Given the description of an element on the screen output the (x, y) to click on. 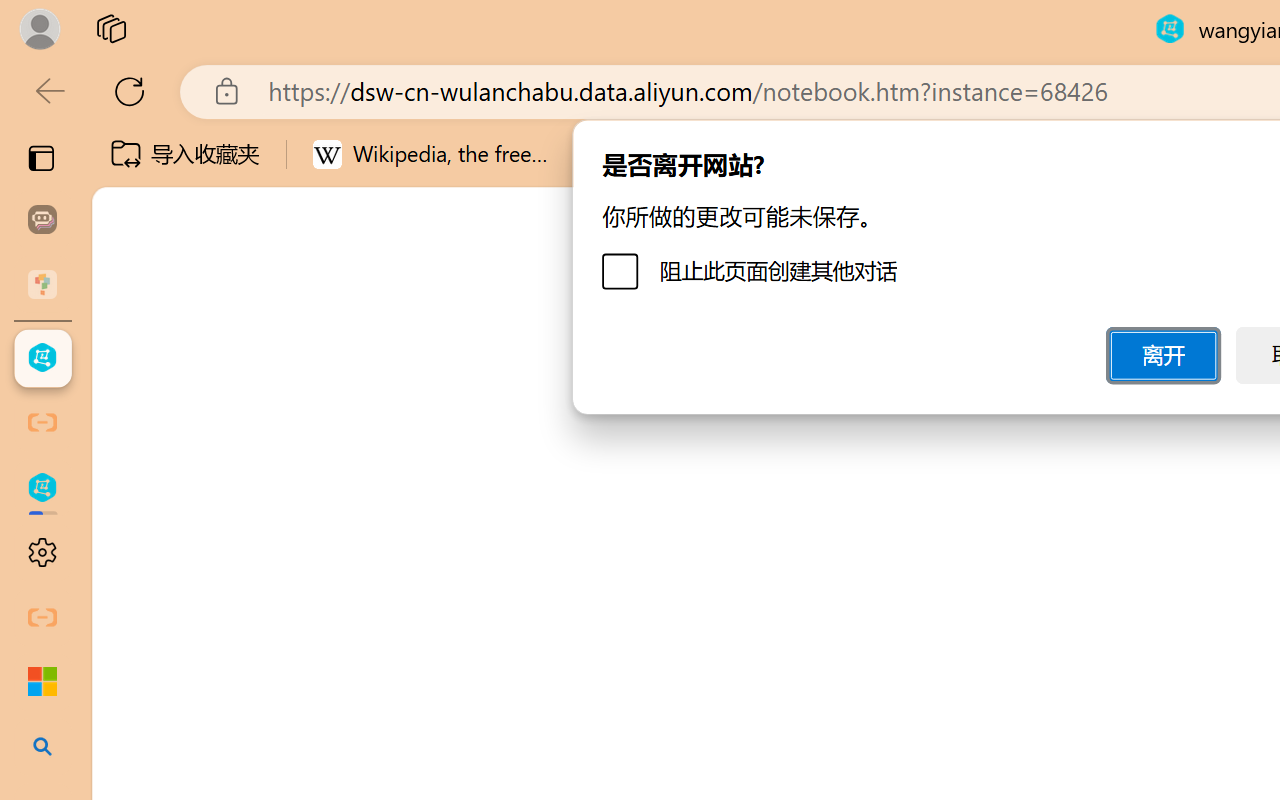
Views and More Actions... (442, 357)
Application Menu (135, 358)
Run and Debug (Ctrl+Shift+D) (135, 692)
Source Control (Ctrl+Shift+G) (135, 604)
Search (Ctrl+Shift+F) (135, 519)
wangyian_dsw - DSW (42, 357)
